Given the description of an element on the screen output the (x, y) to click on. 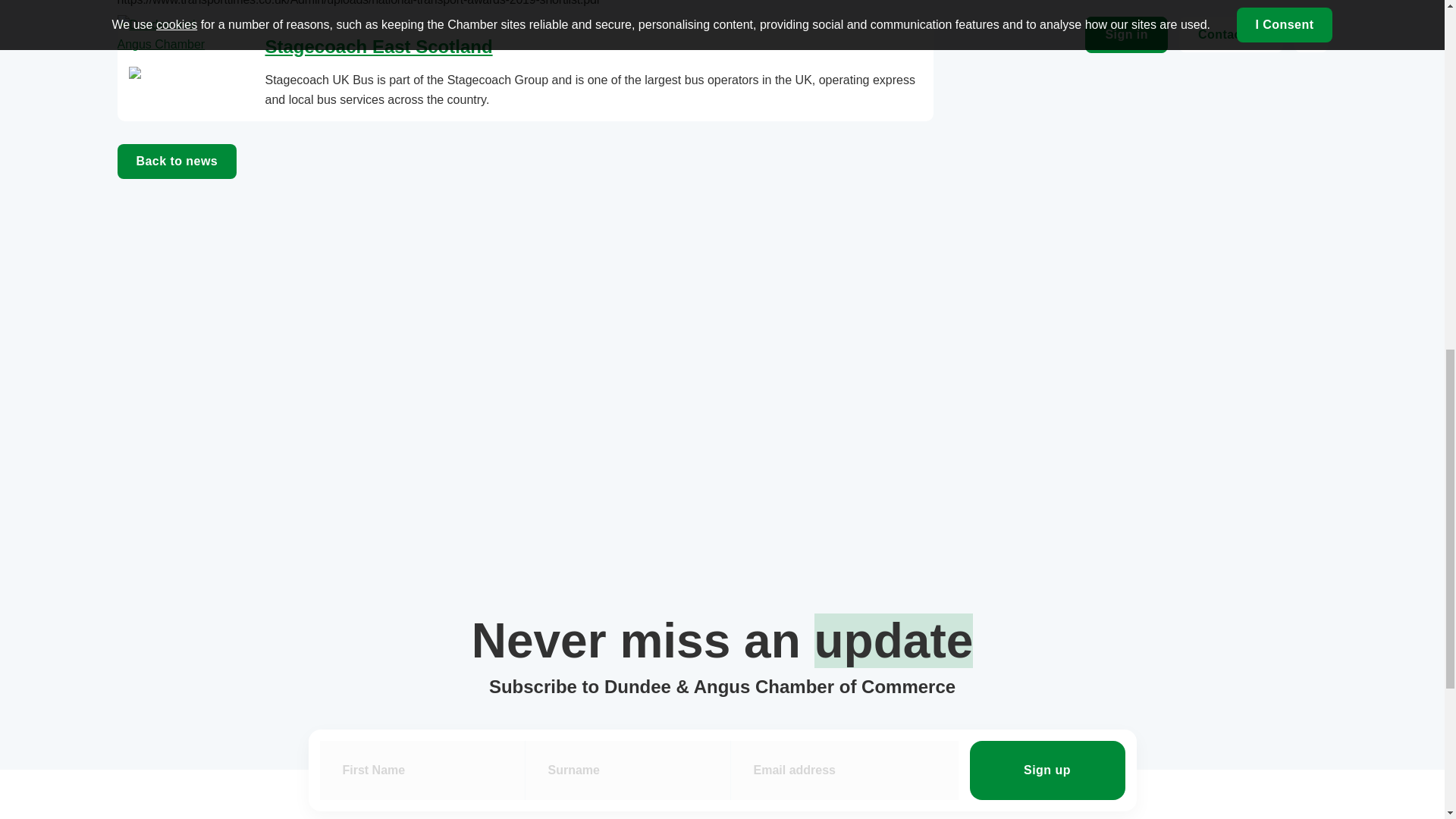
Stagecoach East Scotland (378, 46)
Stagecoach East Scotland (378, 46)
Back to News (175, 161)
Back to news (175, 161)
